Given the description of an element on the screen output the (x, y) to click on. 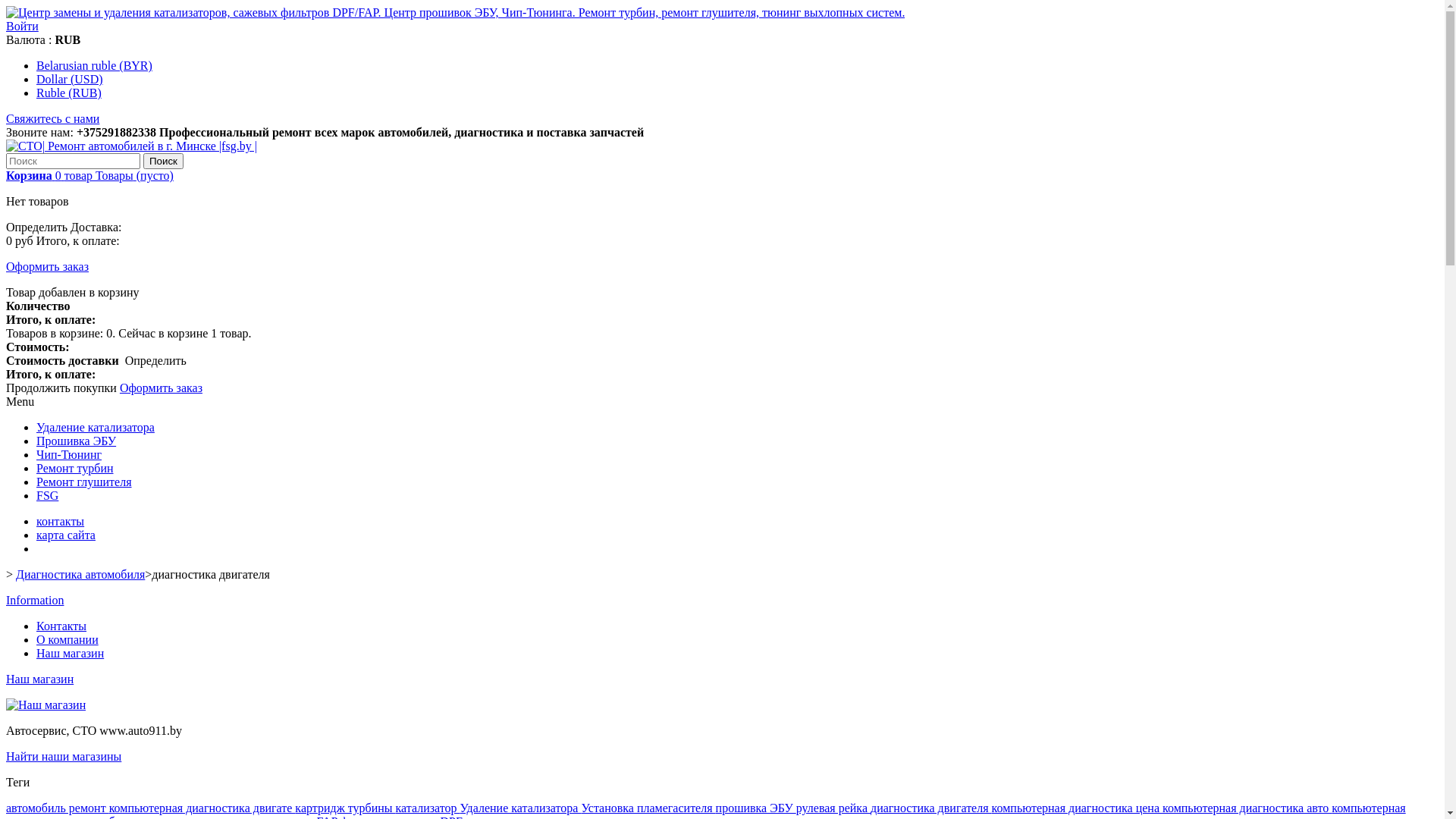
Belarusian ruble (BYR) Element type: text (94, 65)
Information Element type: text (34, 599)
Dollar (USD) Element type: text (69, 78)
Ruble (RUB) Element type: text (68, 92)
FSG Element type: text (47, 495)
